Given the description of an element on the screen output the (x, y) to click on. 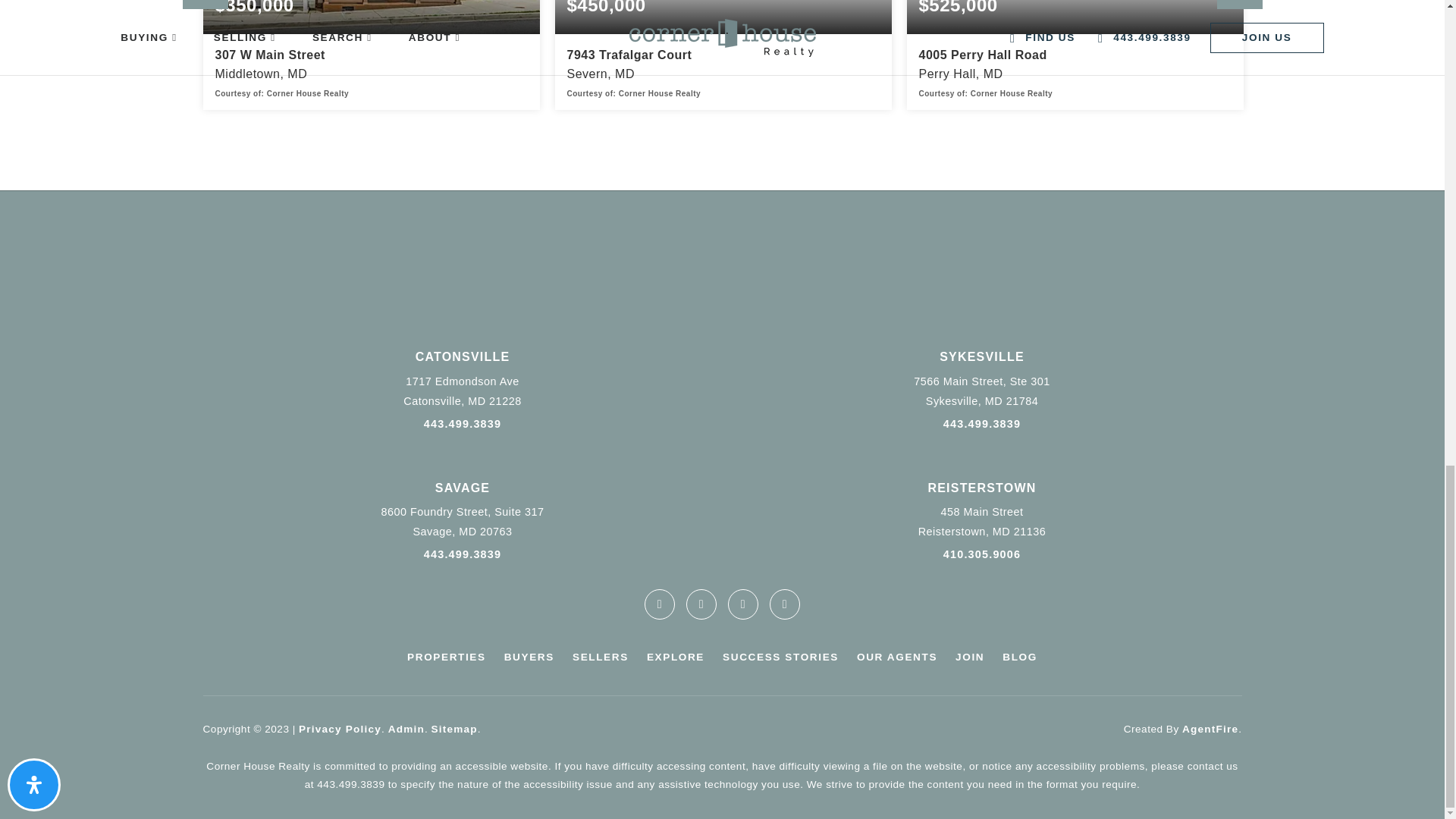
Admin area (406, 728)
Site created by AgentFire (1210, 728)
Read our Privacy Policy (339, 728)
Sitemap (453, 728)
